Given the description of an element on the screen output the (x, y) to click on. 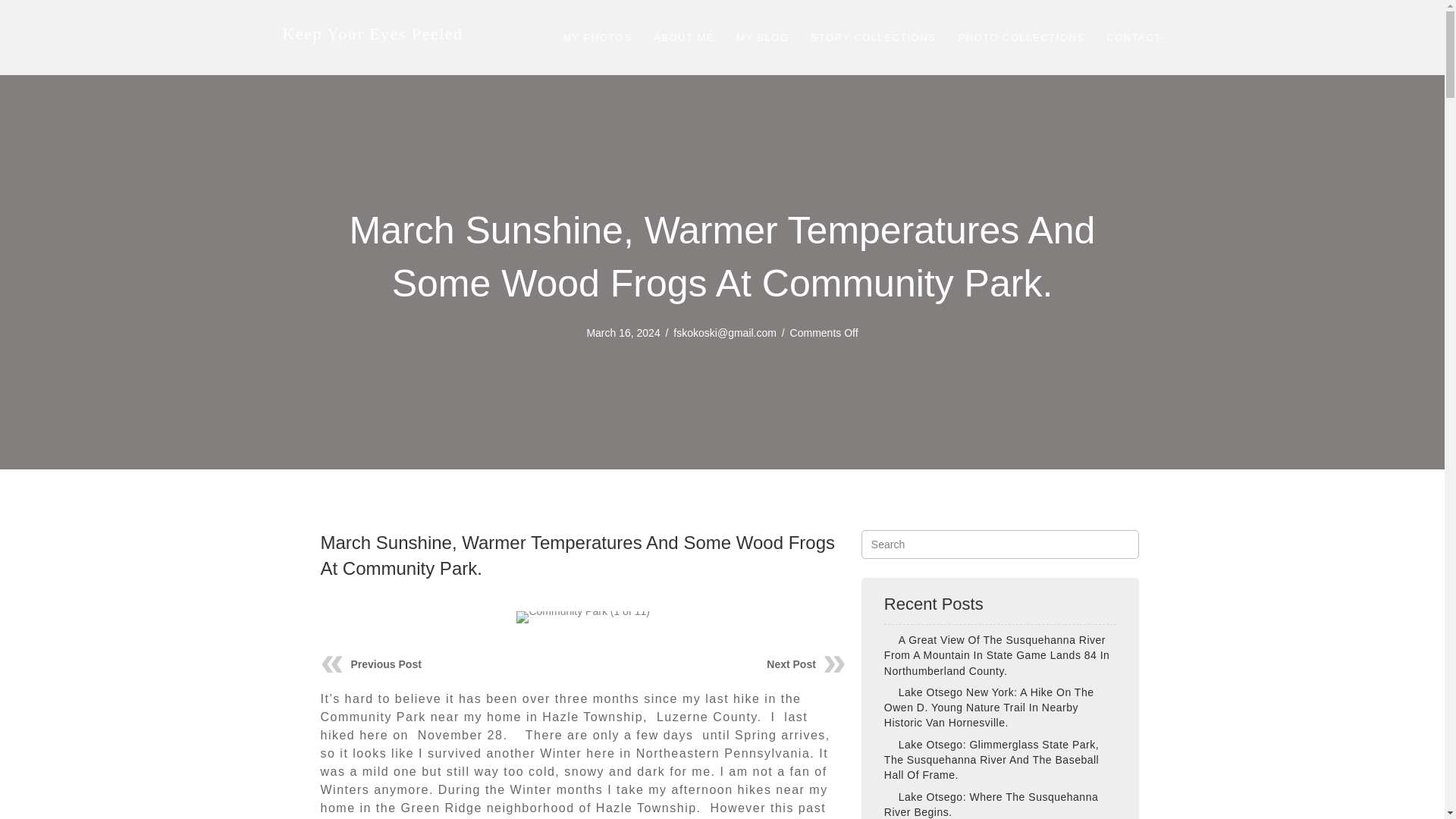
Type and press Enter to search. (1000, 543)
Next Post (791, 664)
Search (1000, 543)
ABOUT ME (684, 38)
STORY COLLECTIONS (873, 38)
Keep Your Eyes Peeled (372, 33)
Previous Post (385, 664)
MY BLOG (762, 38)
CONTACT- (1135, 38)
Search (1000, 543)
